Given the description of an element on the screen output the (x, y) to click on. 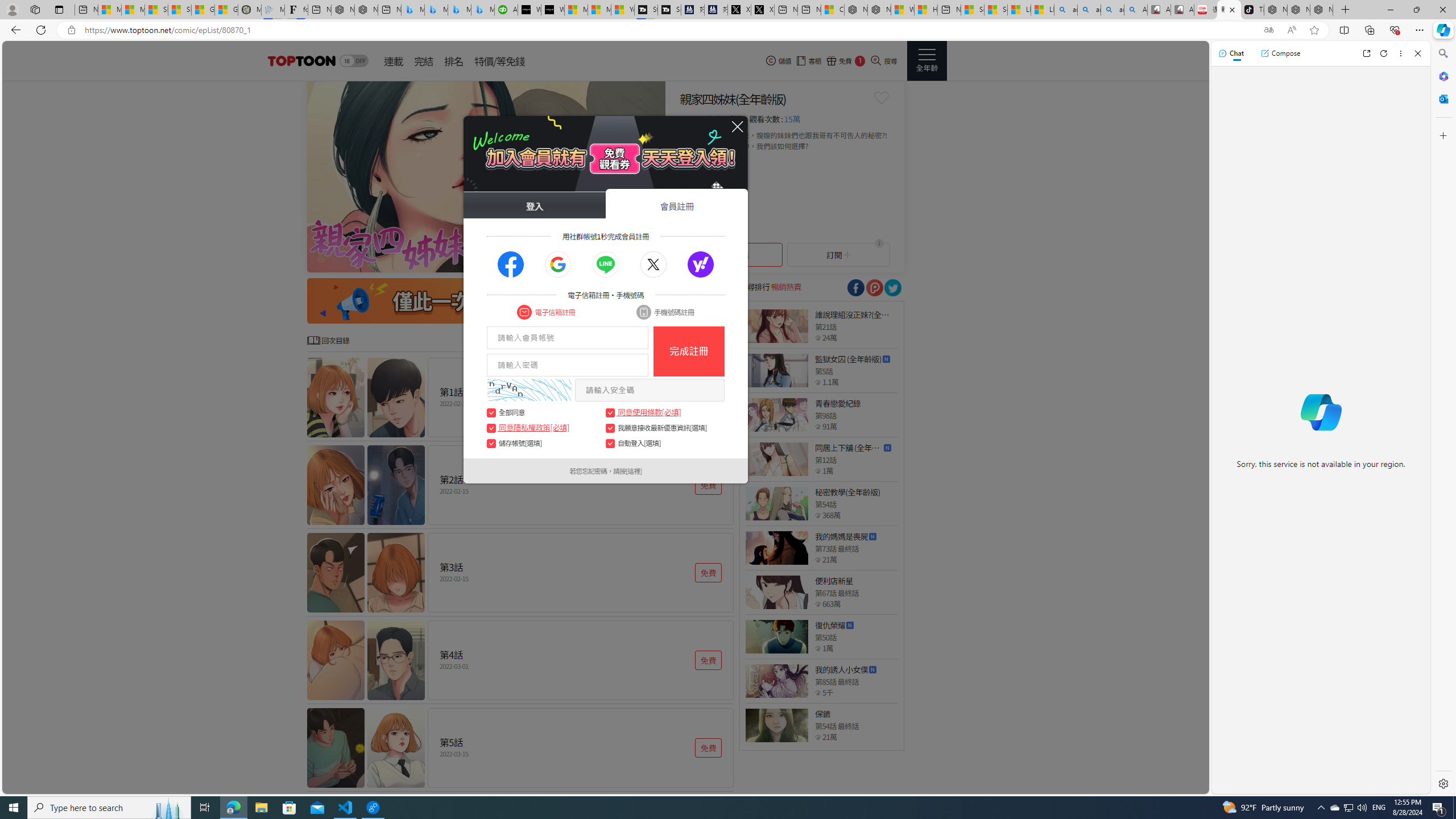
header (300, 60)
amazon - Search Images (1112, 9)
Settings (1442, 783)
